Given the description of an element on the screen output the (x, y) to click on. 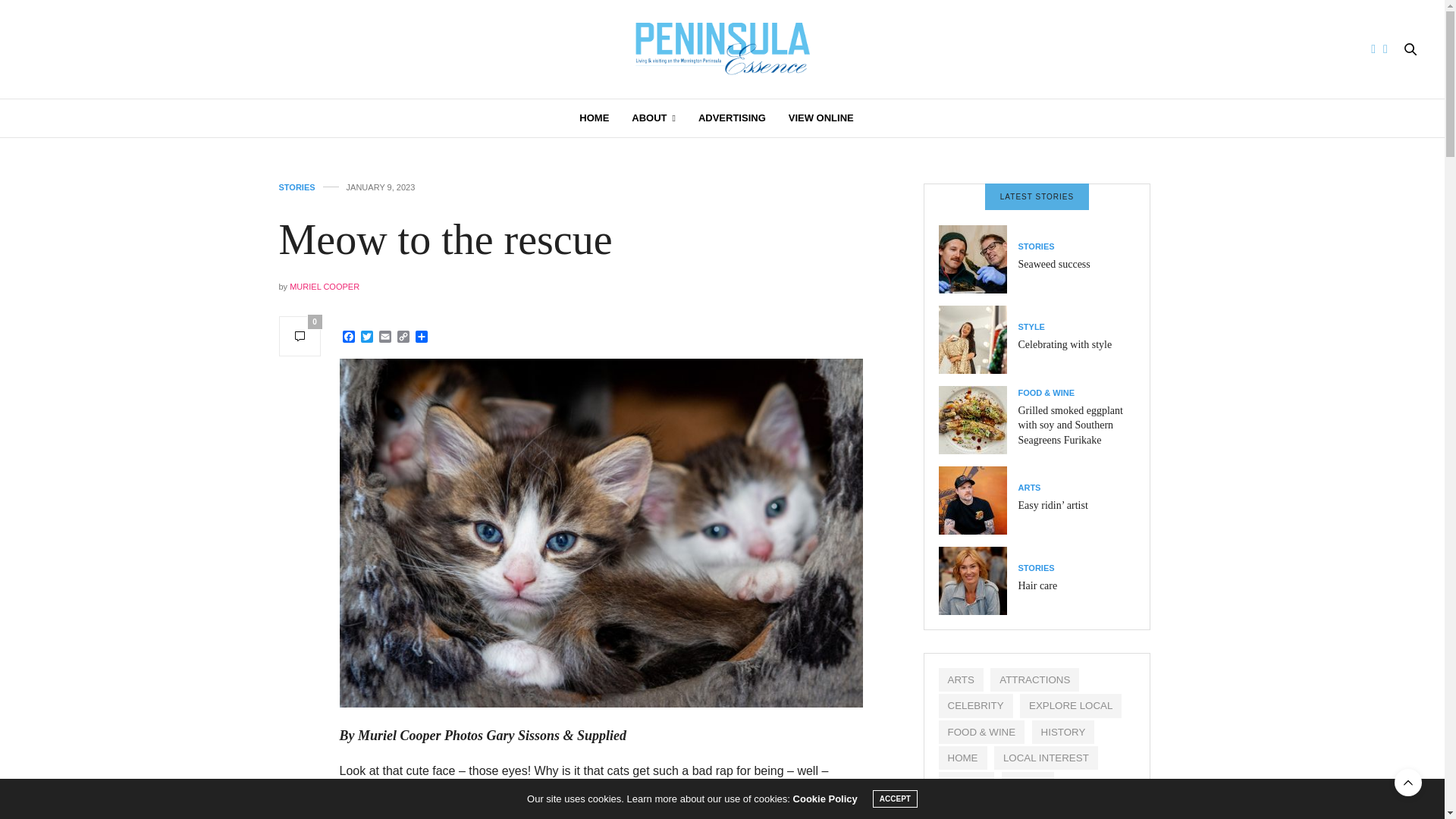
VIEW ONLINE (821, 118)
Facebook (348, 337)
Seaweed success (978, 259)
ABOUT (653, 118)
MURIEL COOPER (324, 286)
STORIES (1035, 246)
Celebrating with style (978, 339)
ADVERTISING (731, 118)
Twitter (366, 337)
Posts by Muriel Cooper (324, 286)
